Given the description of an element on the screen output the (x, y) to click on. 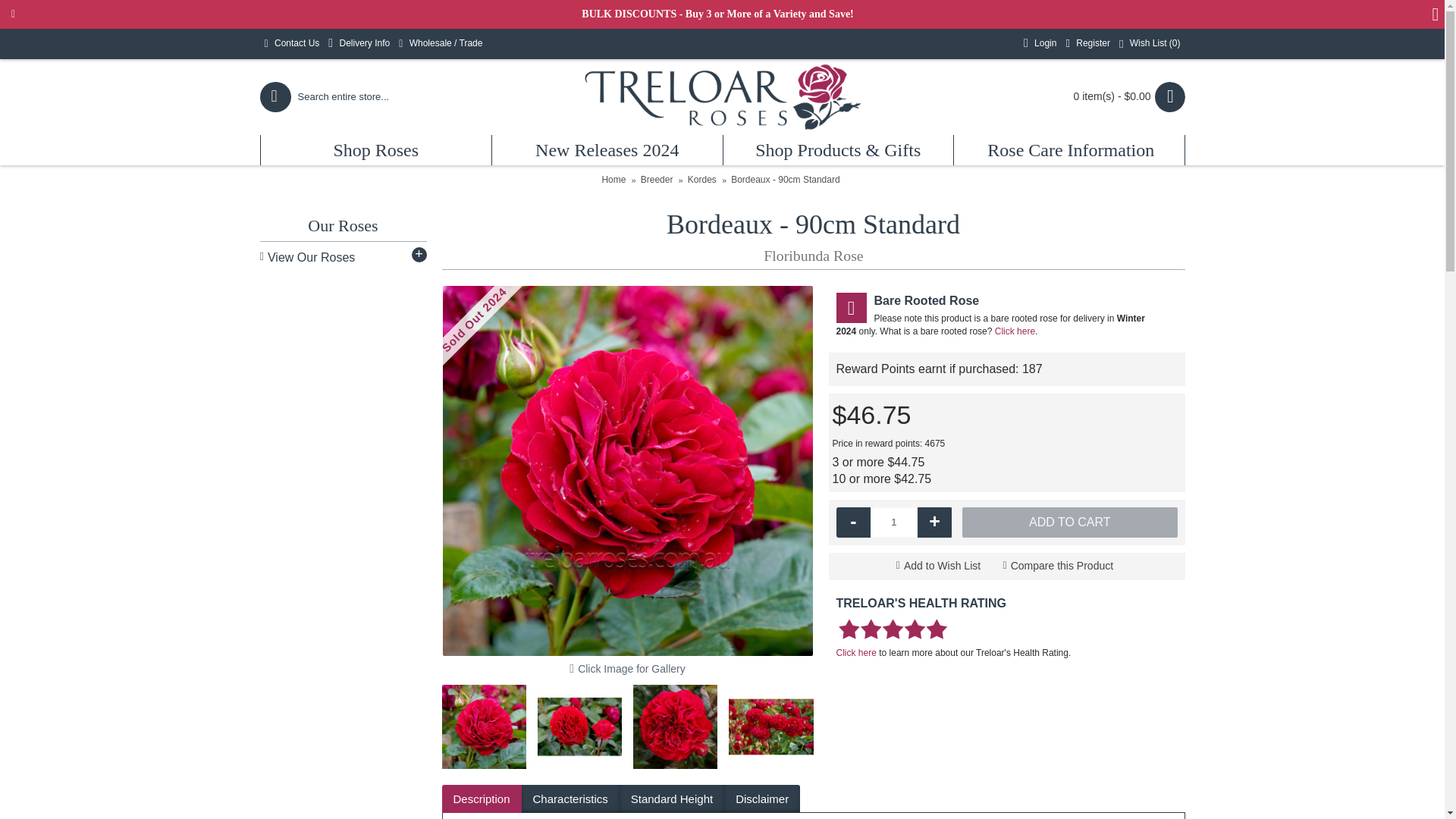
Login (1040, 43)
Delivery Info (358, 43)
1 (893, 521)
Contact Us (291, 43)
Bordeaux - 90cm Standard (675, 726)
Treloar Roses Australia (721, 96)
Register (1088, 43)
Bordeaux - 90cm Standard (483, 726)
Bordeaux - 90cm Standard (579, 726)
Bordeaux - 90cm Standard (770, 726)
Shop Roses (376, 150)
